Given the description of an element on the screen output the (x, y) to click on. 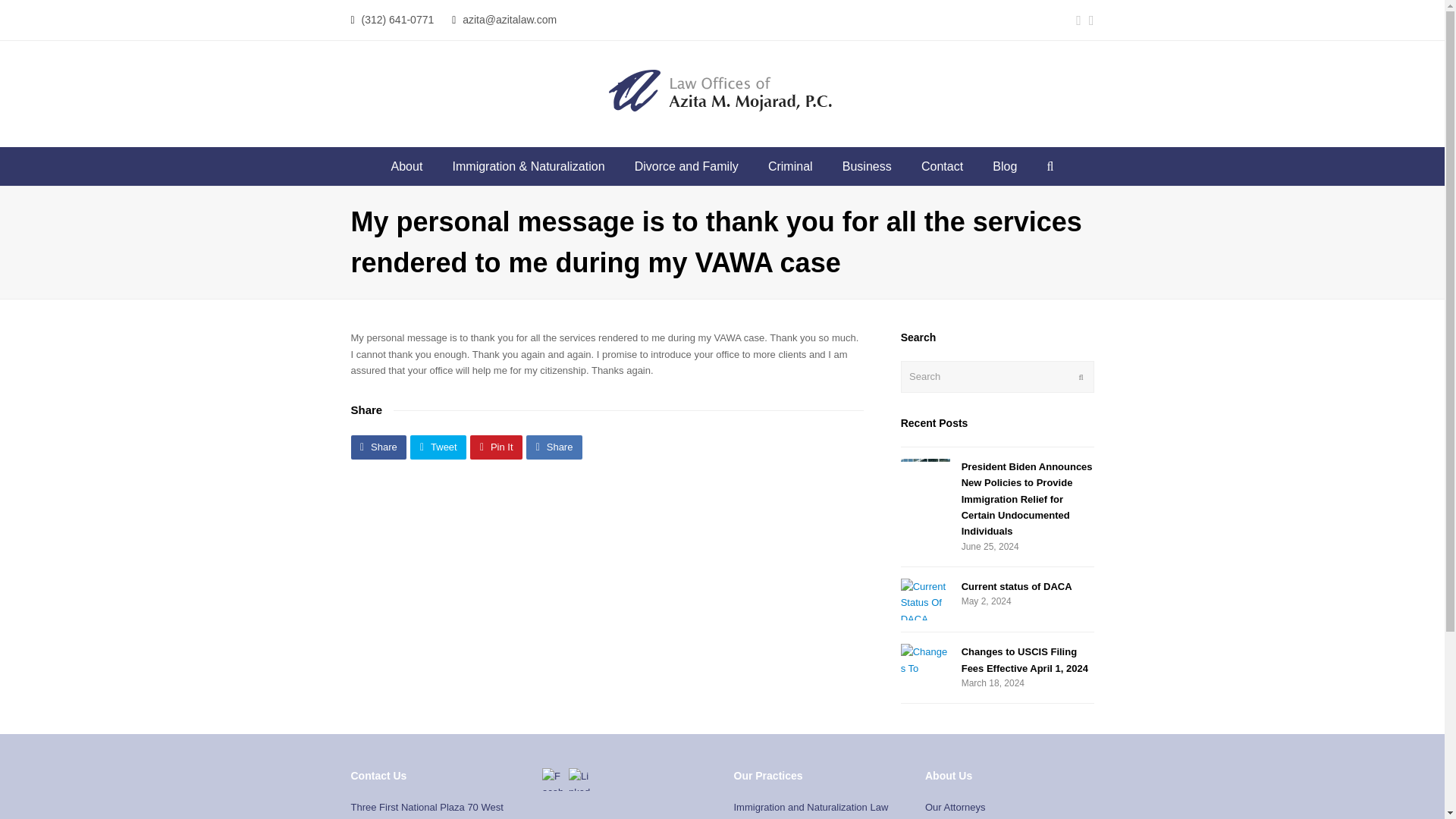
Business (866, 166)
Blog (1004, 166)
Chicago Immigration Lawyer - Azita M. Mojarad (721, 90)
Share on Facebook (378, 446)
Pin It (496, 446)
Share (378, 446)
Share on Pinterest (496, 446)
Share on LinkedIn (553, 446)
Current status of DACA (1015, 586)
Changes to USCIS Filing Fees  Effective April 1, 2024 (925, 659)
Contact (941, 166)
Share on Twitter (437, 446)
